Given the description of an element on the screen output the (x, y) to click on. 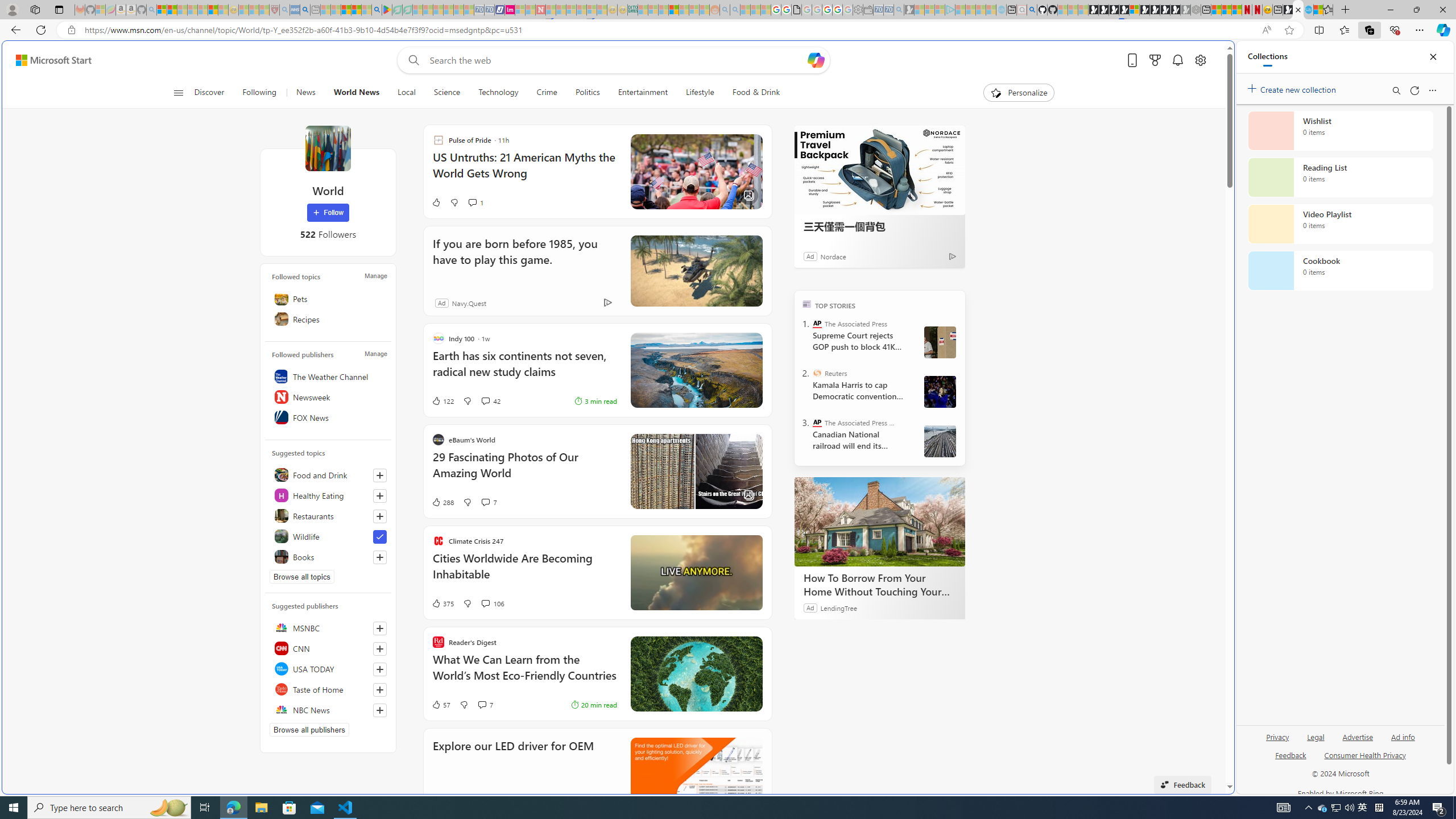
Restaurants (327, 515)
